Given the description of an element on the screen output the (x, y) to click on. 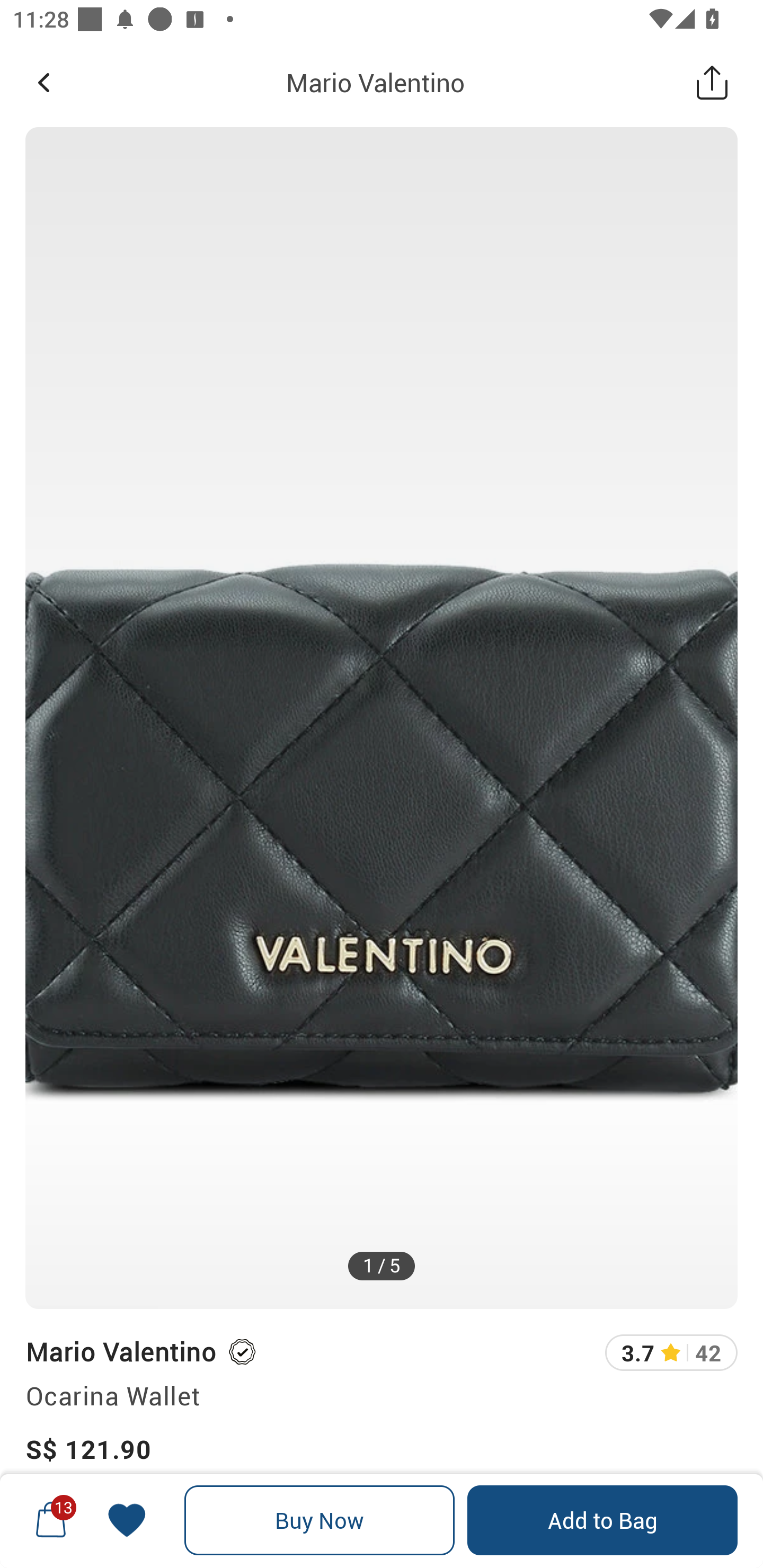
Mario Valentino (375, 82)
Share this Product (711, 82)
Mario Valentino (120, 1351)
3.7 42 (671, 1352)
Buy Now (319, 1519)
Add to Bag (601, 1519)
13 (50, 1520)
